Given the description of an element on the screen output the (x, y) to click on. 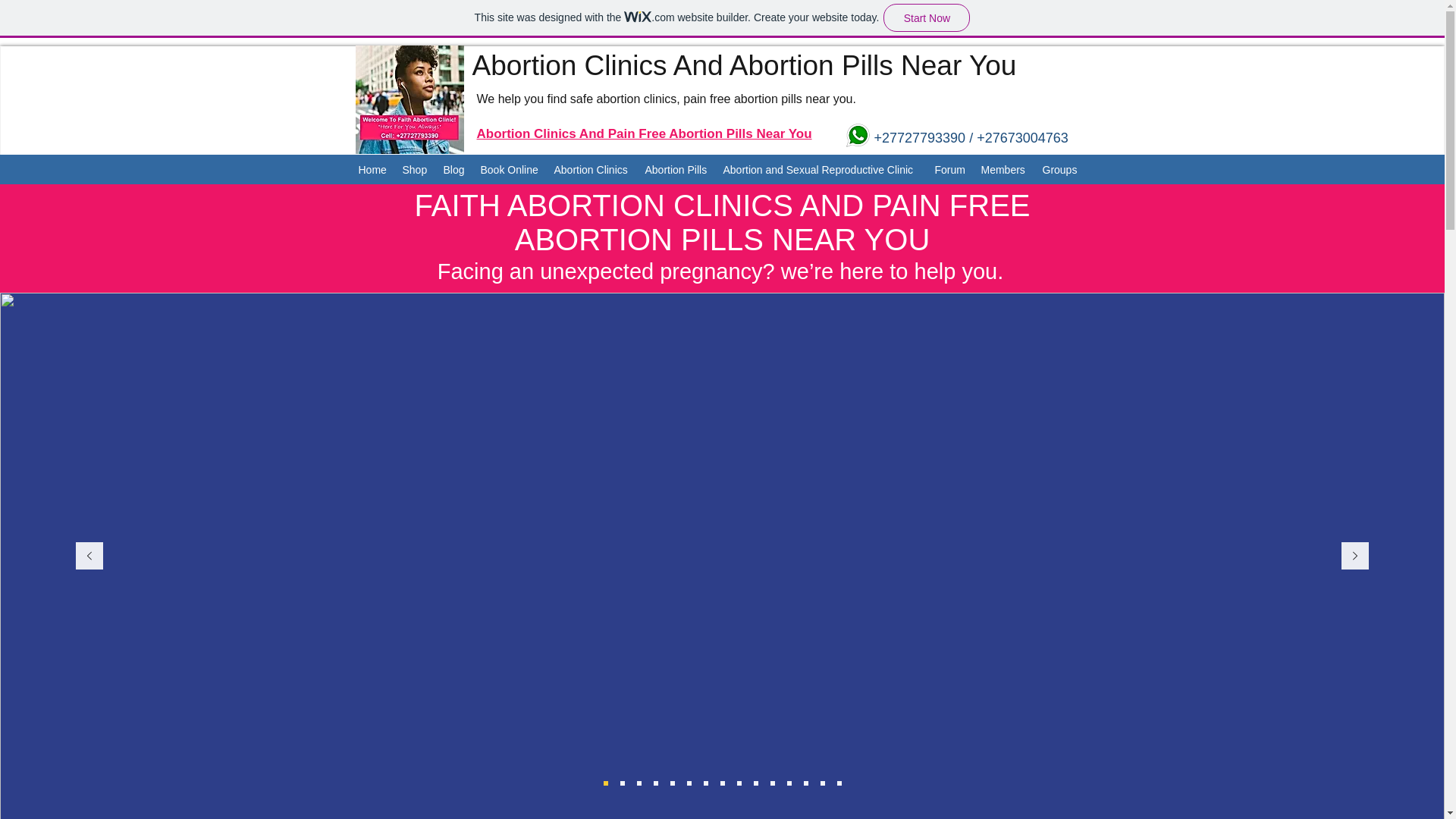
Book Online (510, 169)
Blog (453, 169)
Abortion Clinics (591, 169)
Shop (414, 169)
Home (372, 169)
